Given the description of an element on the screen output the (x, y) to click on. 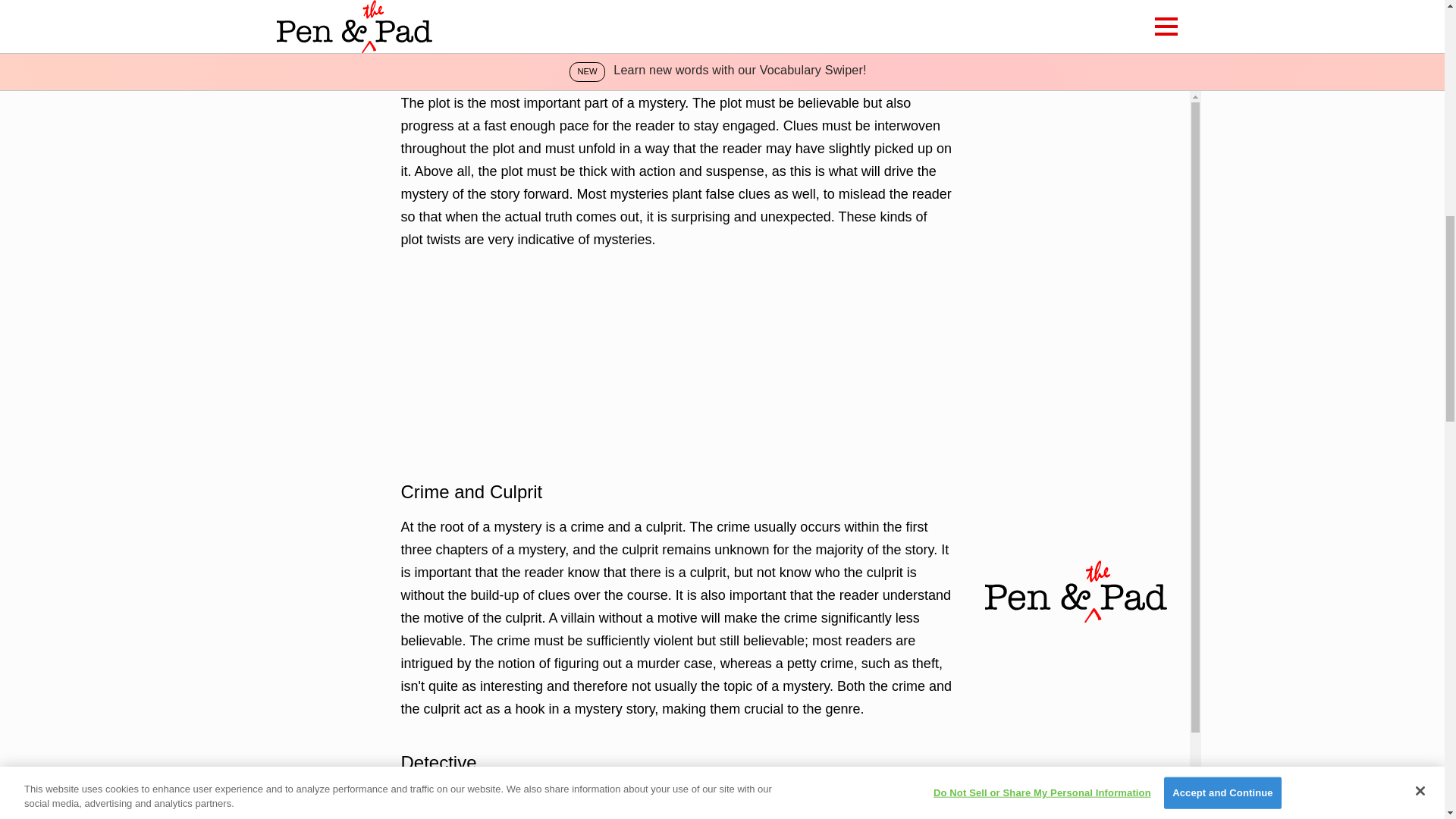
3rd party ad content (676, 363)
Advertisement (676, 17)
